Given the description of an element on the screen output the (x, y) to click on. 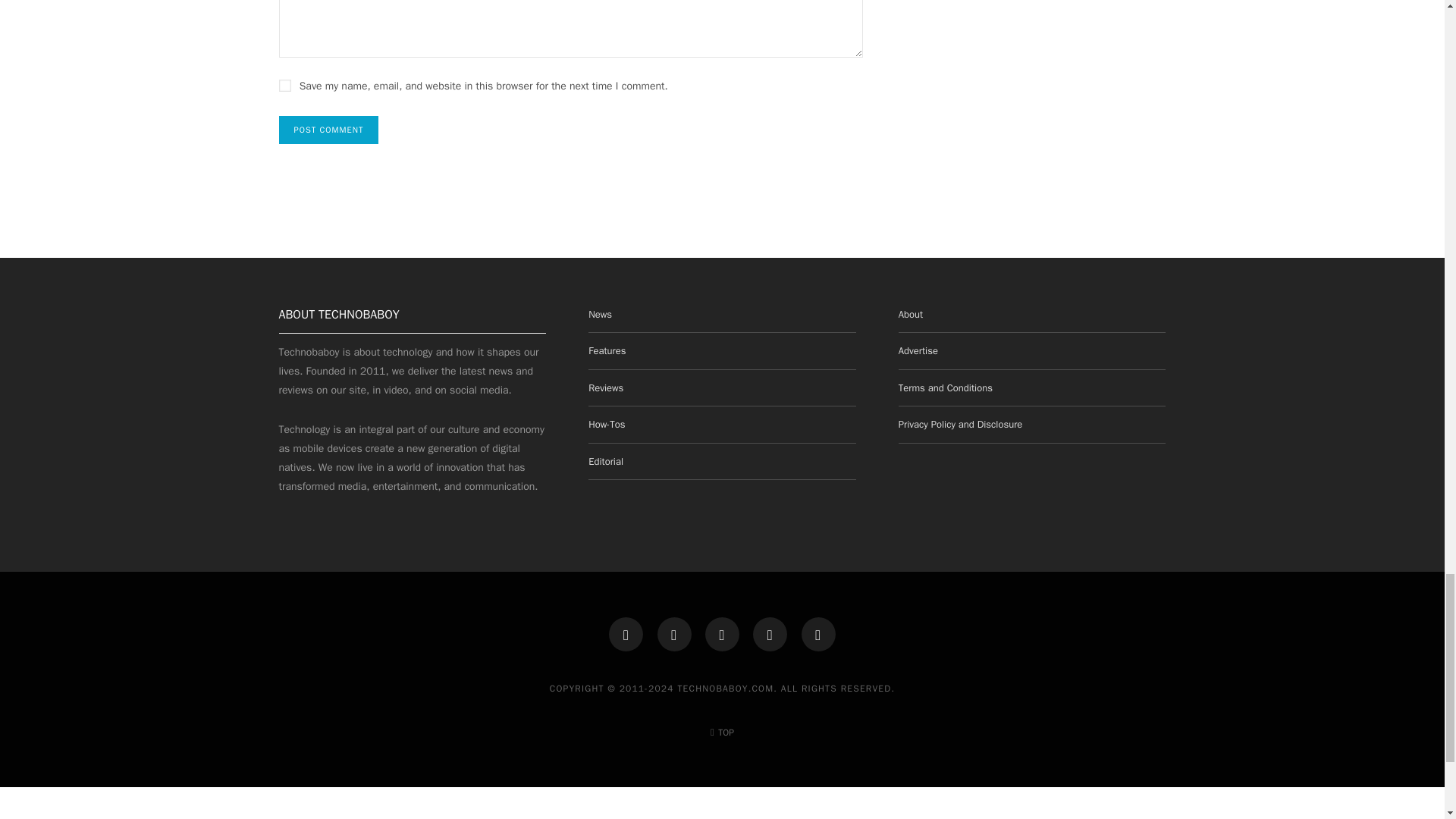
Post Comment (328, 130)
yes (285, 85)
Post Comment (328, 130)
